Given the description of an element on the screen output the (x, y) to click on. 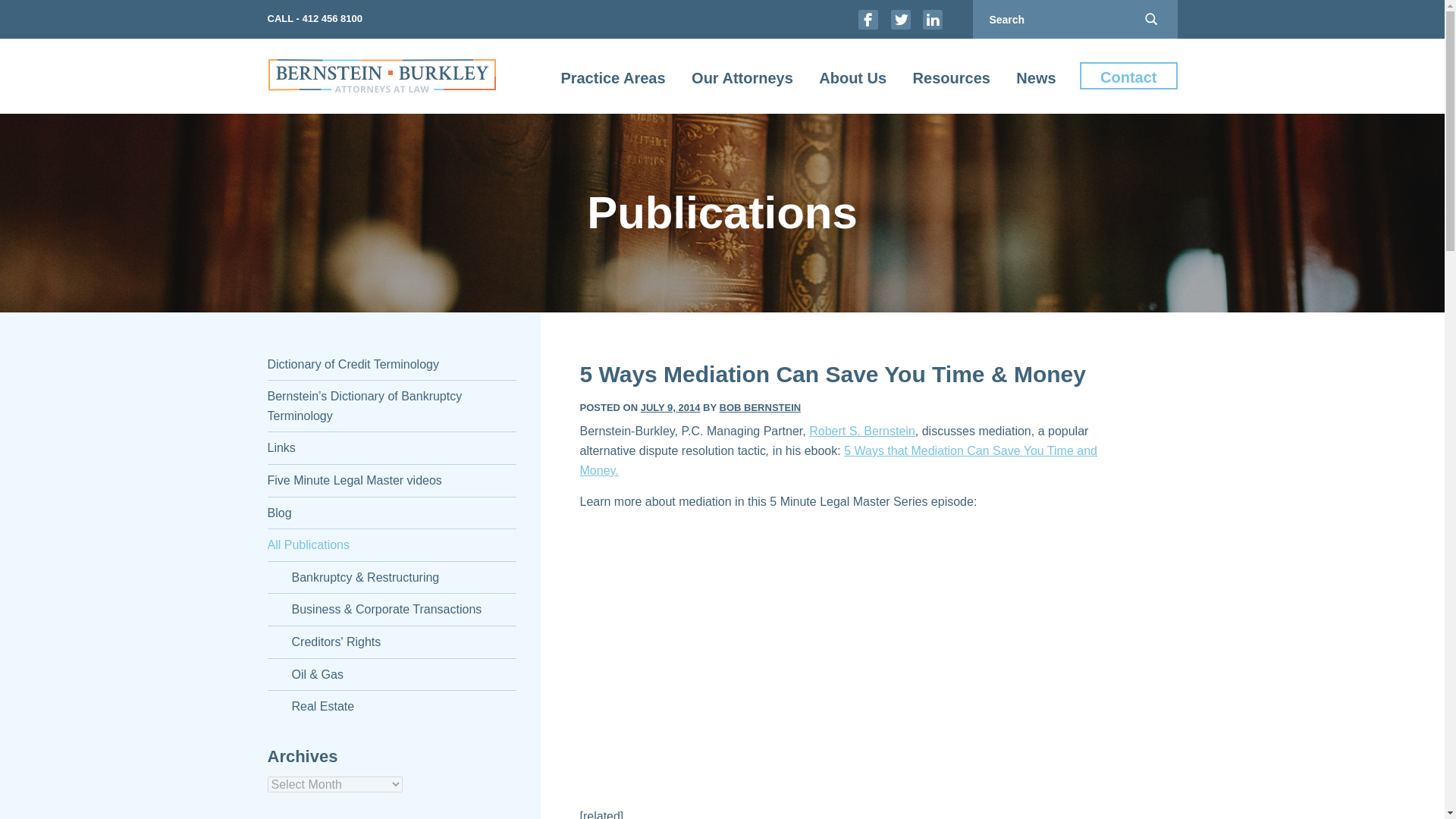
Facebook (868, 18)
SEARCH (1150, 19)
Bernstein Burkley (381, 76)
Robert S. Bernstein (862, 431)
Twitter (901, 18)
LinkedIn (932, 18)
Practice Areas (611, 75)
